Given the description of an element on the screen output the (x, y) to click on. 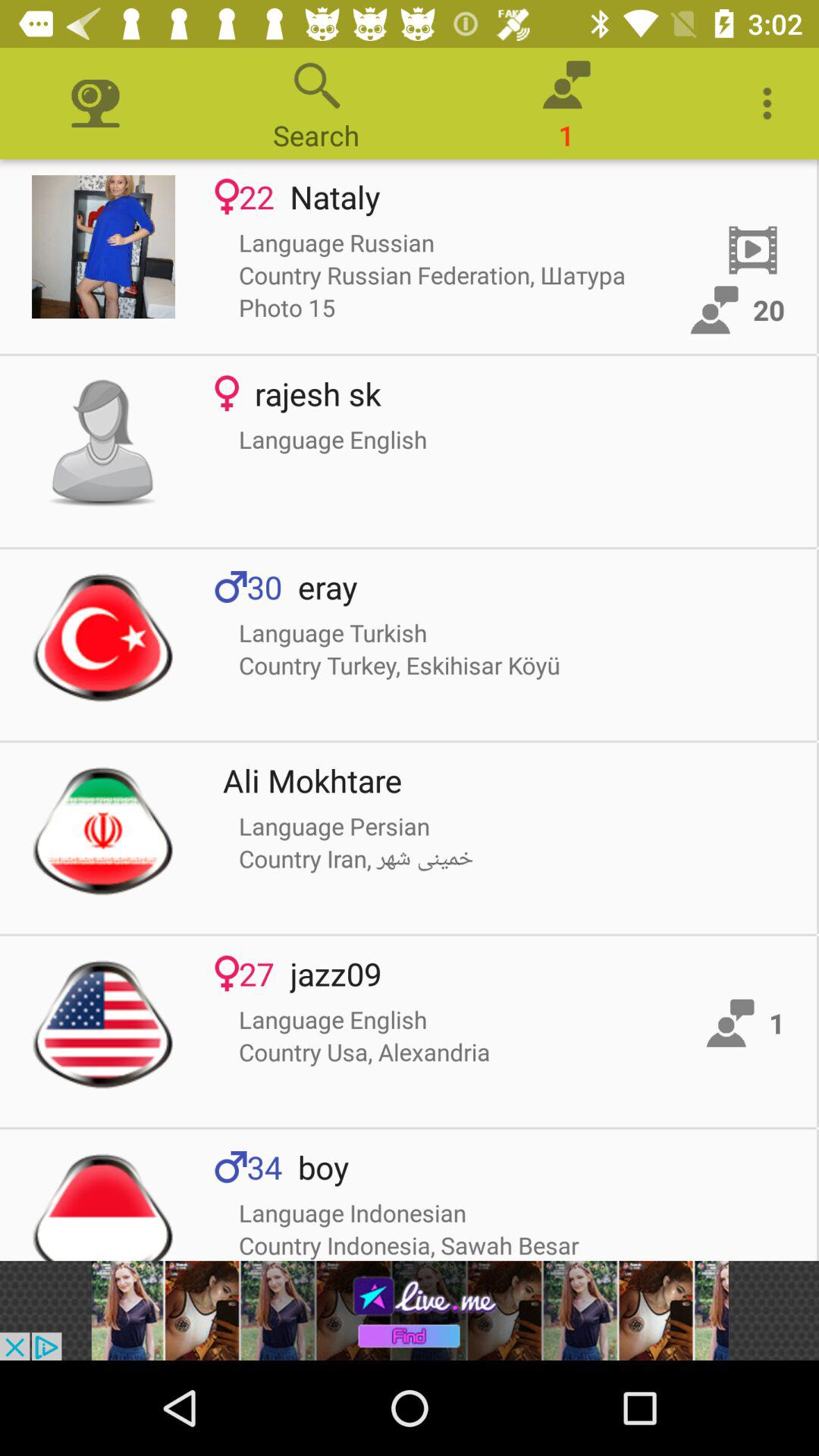
view (103, 636)
